Given the description of an element on the screen output the (x, y) to click on. 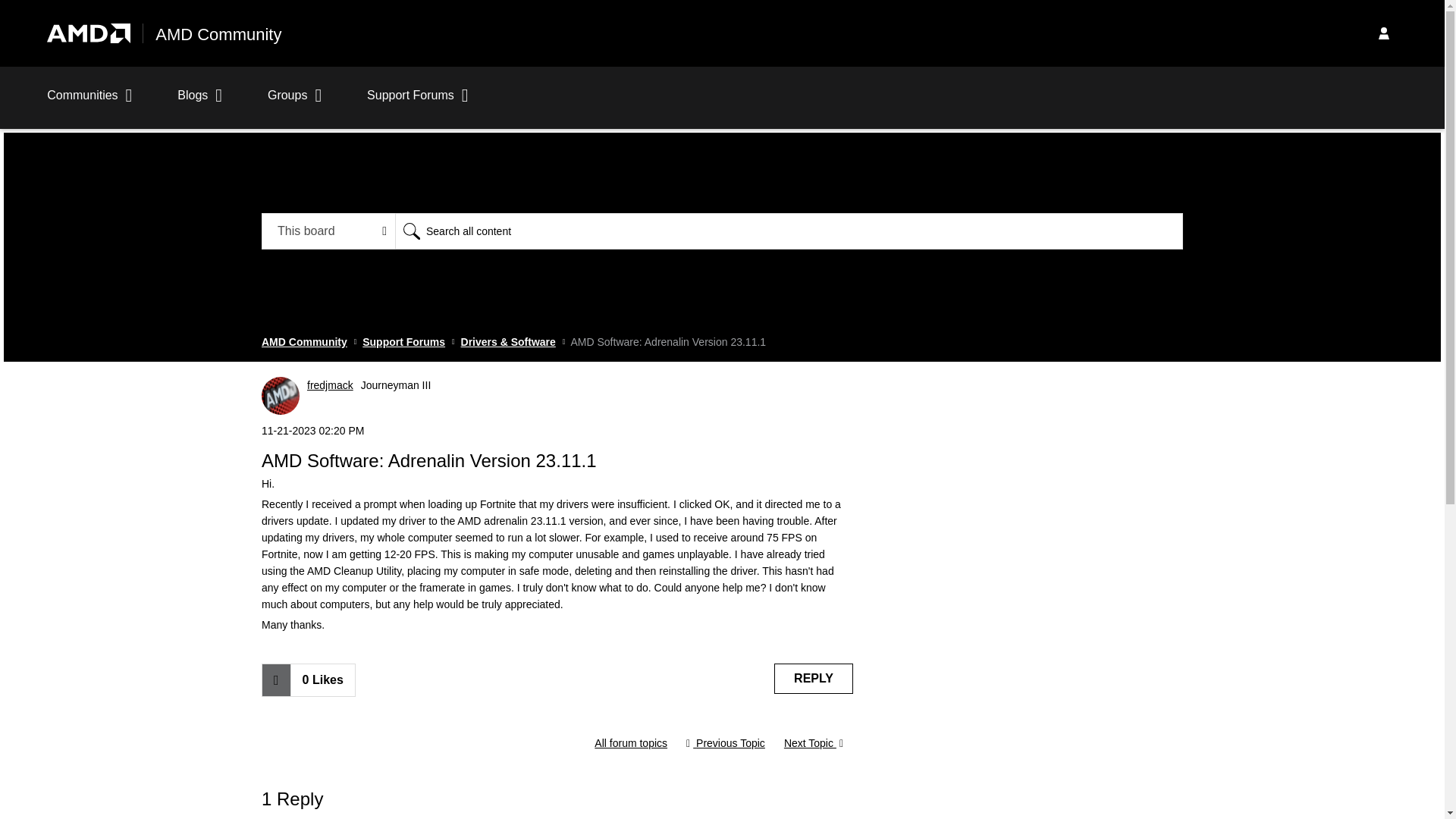
Groups (294, 103)
Search (411, 230)
Communities (89, 103)
fredjmack (280, 395)
Search (411, 230)
Search (411, 230)
Posted on (557, 430)
Search (788, 230)
AMD Community (304, 341)
AMD Logo (88, 32)
Support Forums (403, 341)
Sign In (1383, 32)
The total number of likes this post has received. (322, 680)
Blogs (199, 103)
AMD Community (218, 34)
